Given the description of an element on the screen output the (x, y) to click on. 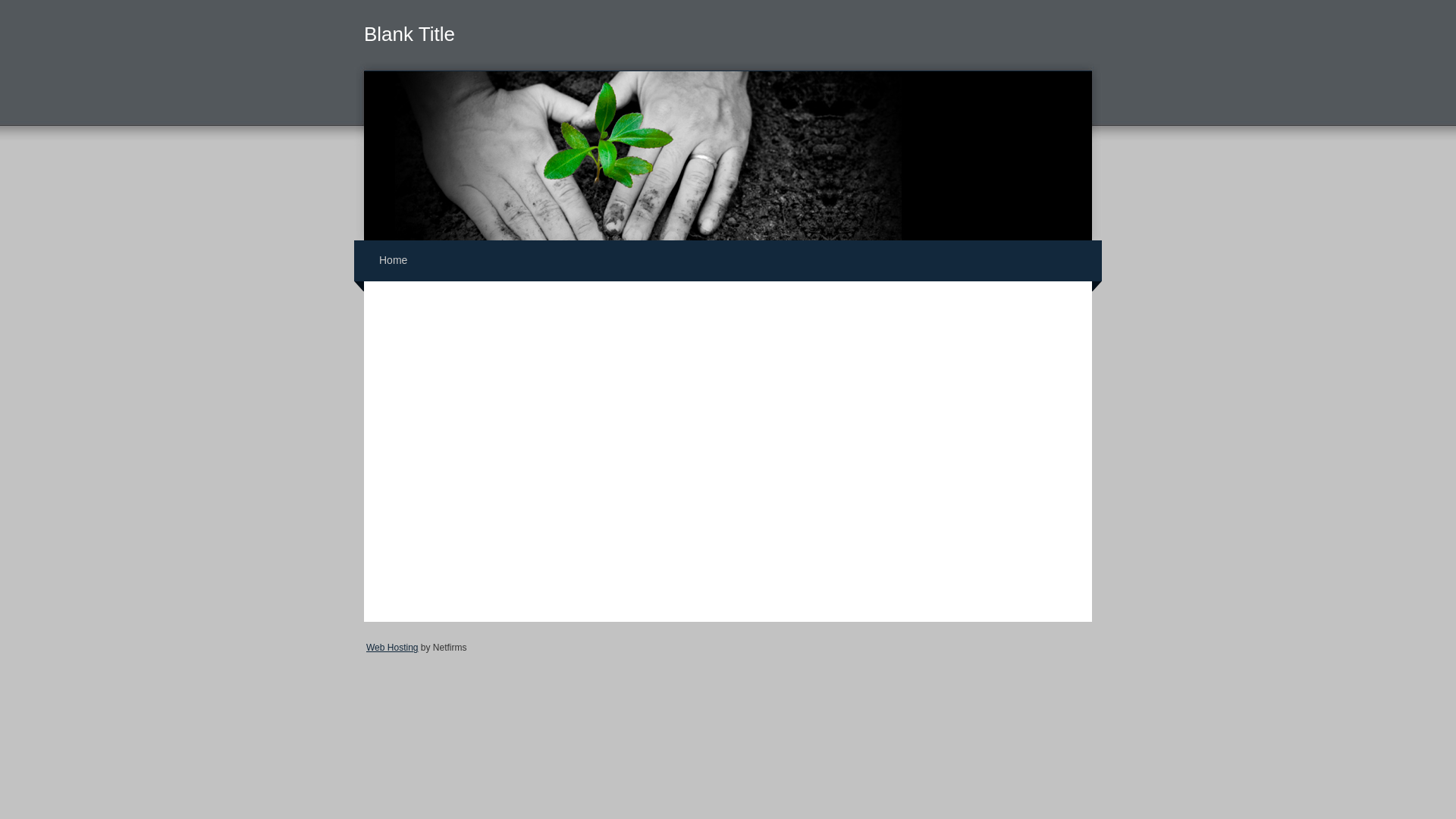
Web Hosting Element type: text (391, 647)
Home Element type: text (393, 260)
